Given the description of an element on the screen output the (x, y) to click on. 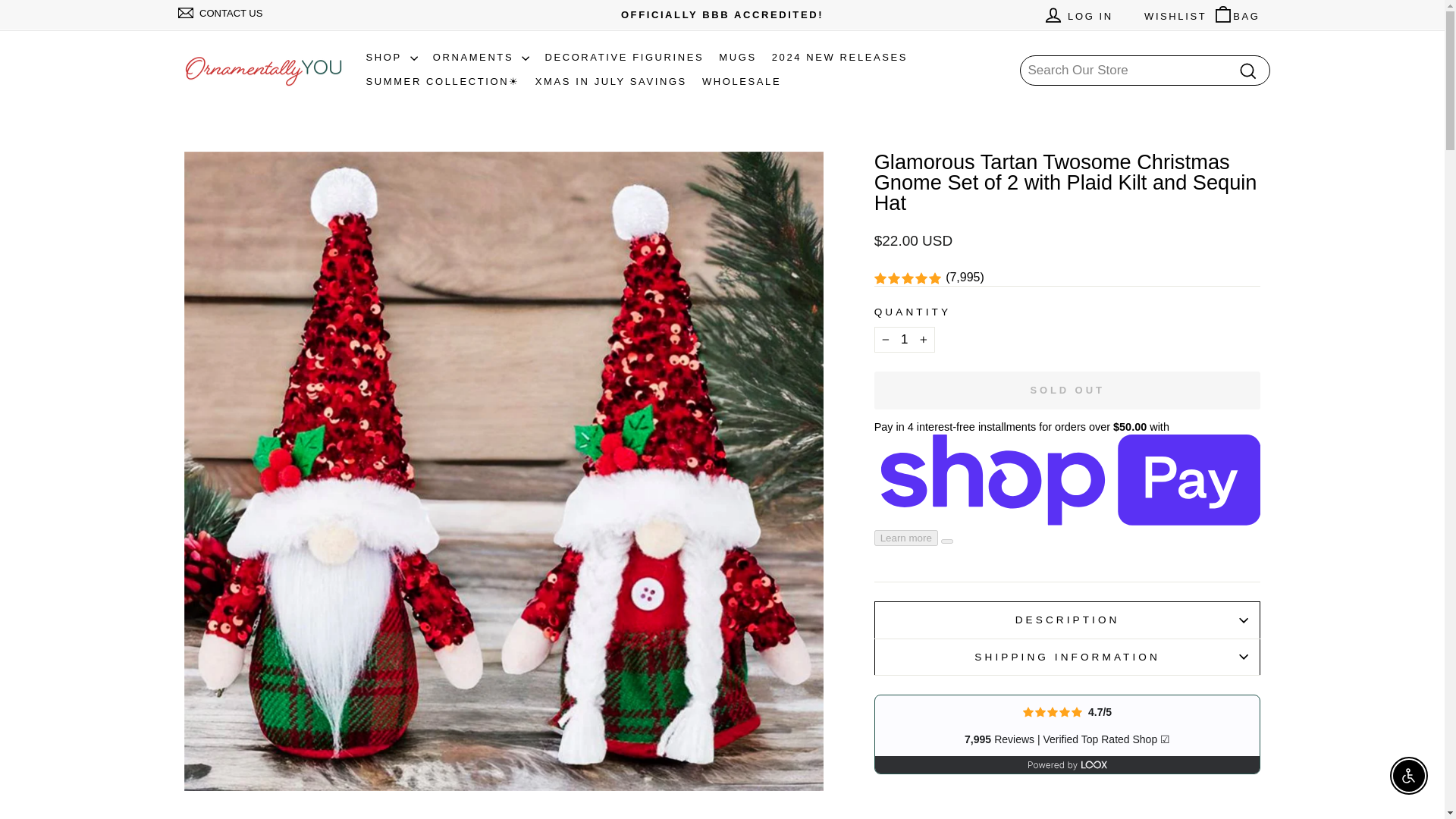
1 (904, 339)
ACCOUNT (1053, 14)
ICON-BAG-MINIMAL (1222, 14)
